Given the description of an element on the screen output the (x, y) to click on. 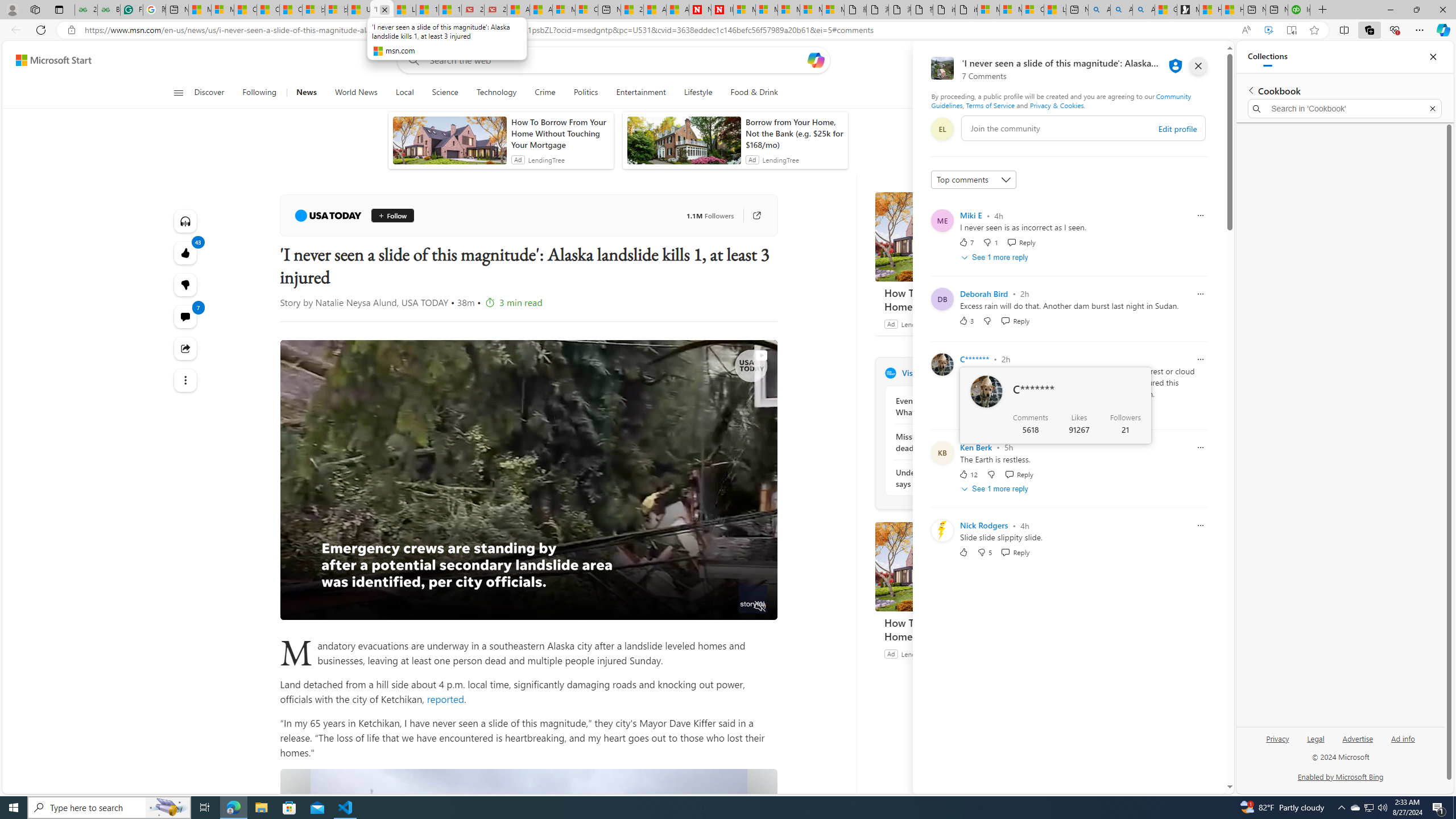
Report comment (1200, 525)
Exit search (1432, 108)
43 Like (184, 252)
Enhance video (1268, 29)
20 Ways to Boost Your Protein Intake at Every Meal (631, 9)
anim-content (683, 144)
